Given the description of an element on the screen output the (x, y) to click on. 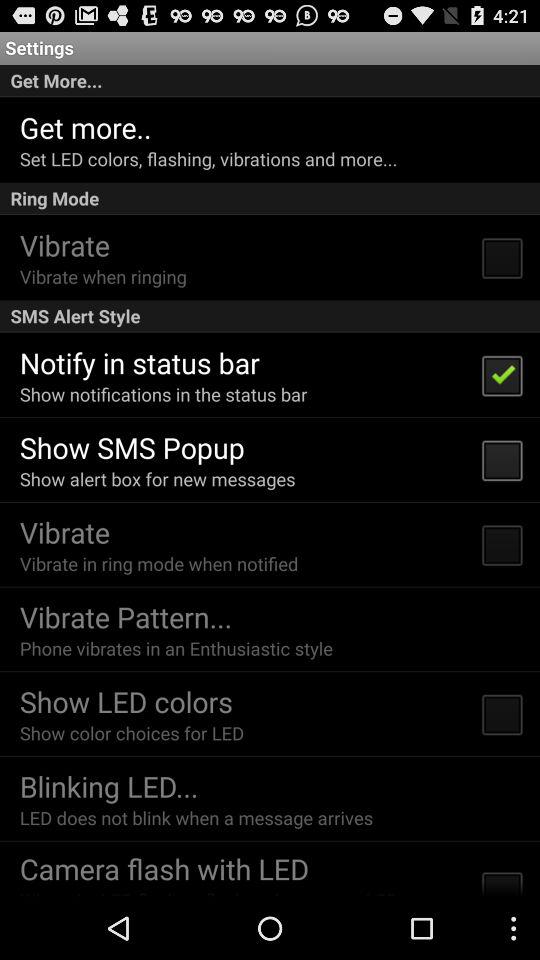
click the item below show notifications in icon (131, 446)
